Given the description of an element on the screen output the (x, y) to click on. 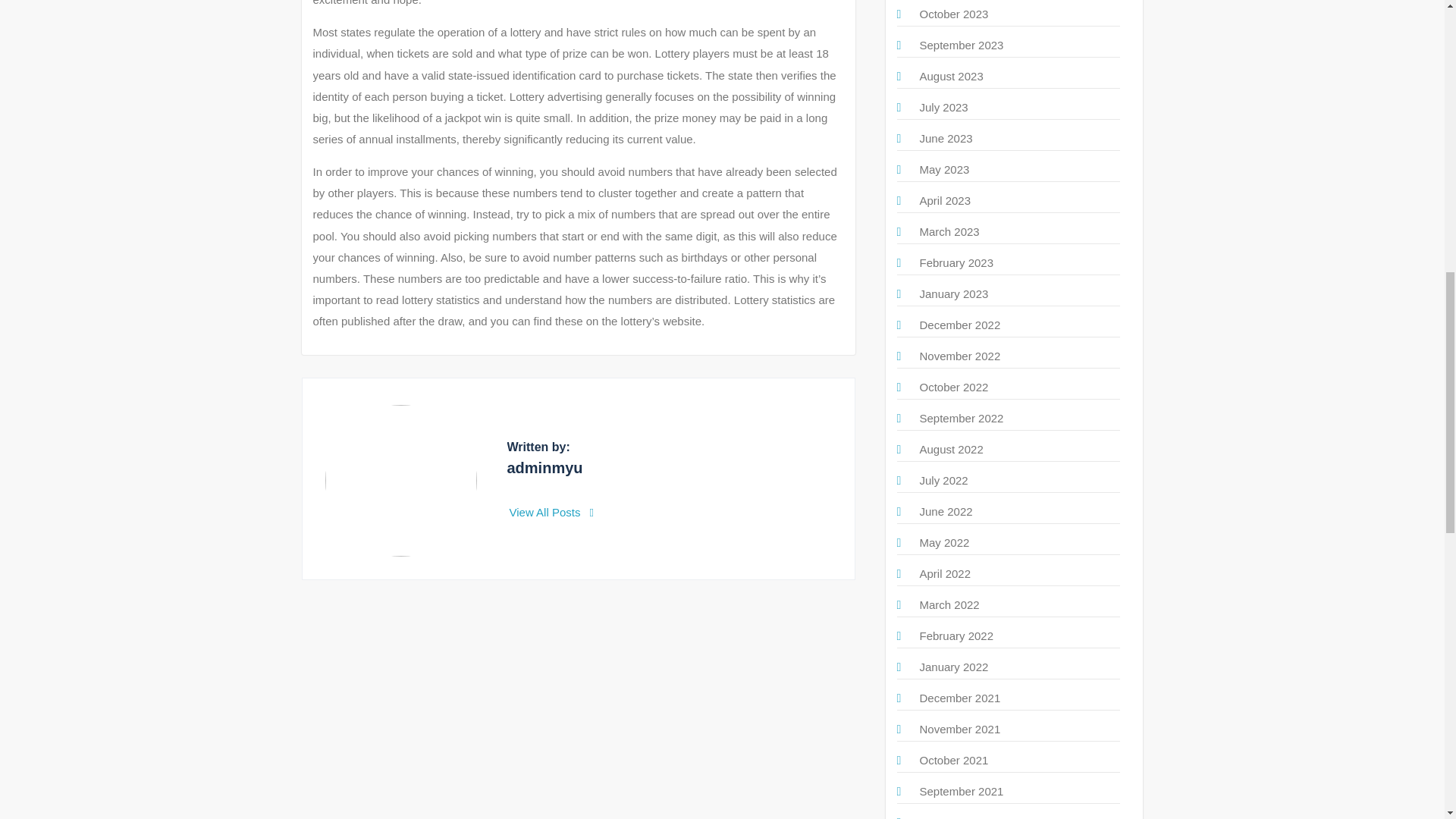
July 2022 (943, 480)
April 2023 (944, 200)
November 2022 (959, 355)
February 2023 (955, 262)
June 2023 (945, 137)
May 2023 (943, 169)
May 2022 (943, 542)
August 2023 (950, 75)
December 2022 (959, 324)
March 2023 (948, 231)
